Given the description of an element on the screen output the (x, y) to click on. 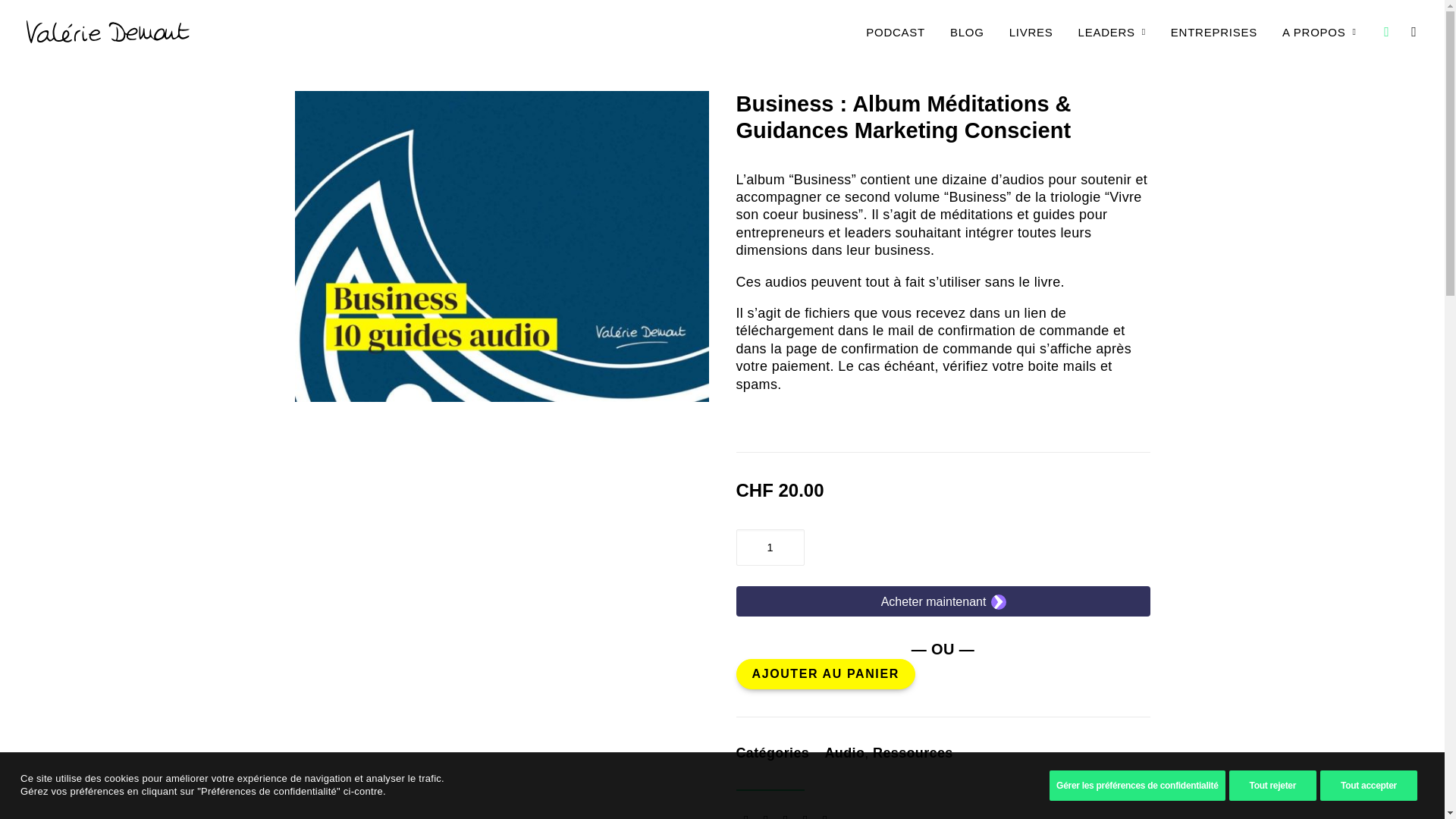
ENTREPRISES Element type: text (1213, 31)
Tout rejeter Element type: text (1273, 785)
AJOUTER AU PANIER Element type: text (824, 673)
LEADERS Element type: text (1111, 31)
cart Element type: hover (1407, 31)
A PROPOS Element type: text (1313, 31)
Tout accepter Element type: text (1368, 785)
LIVRES Element type: text (1030, 31)
Ressources Element type: text (912, 752)
PODCAST Element type: text (895, 31)
Audio Element type: text (845, 752)
BLOG Element type: text (966, 31)
